Given the description of an element on the screen output the (x, y) to click on. 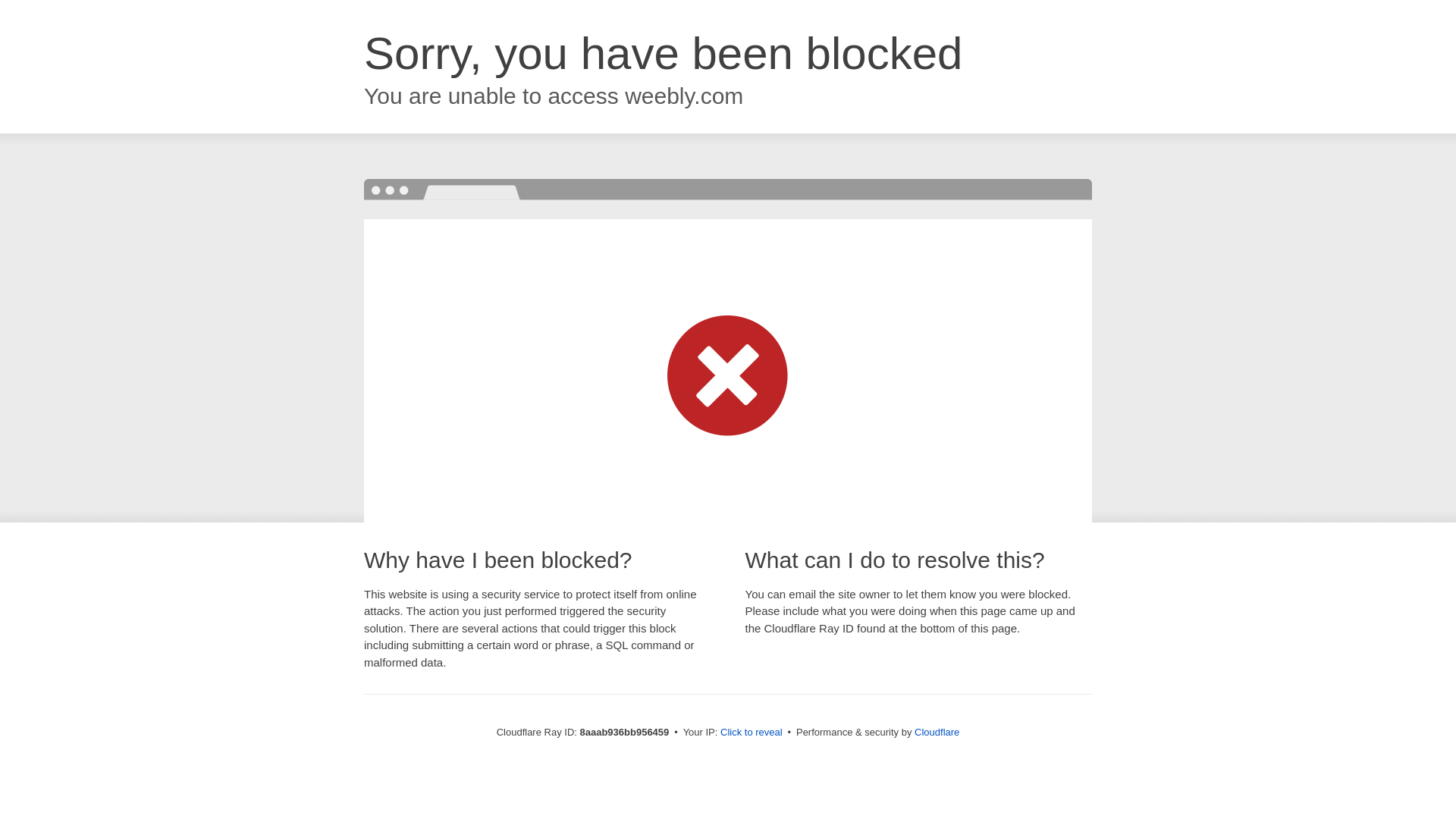
Click to reveal (751, 732)
Cloudflare (936, 731)
